Given the description of an element on the screen output the (x, y) to click on. 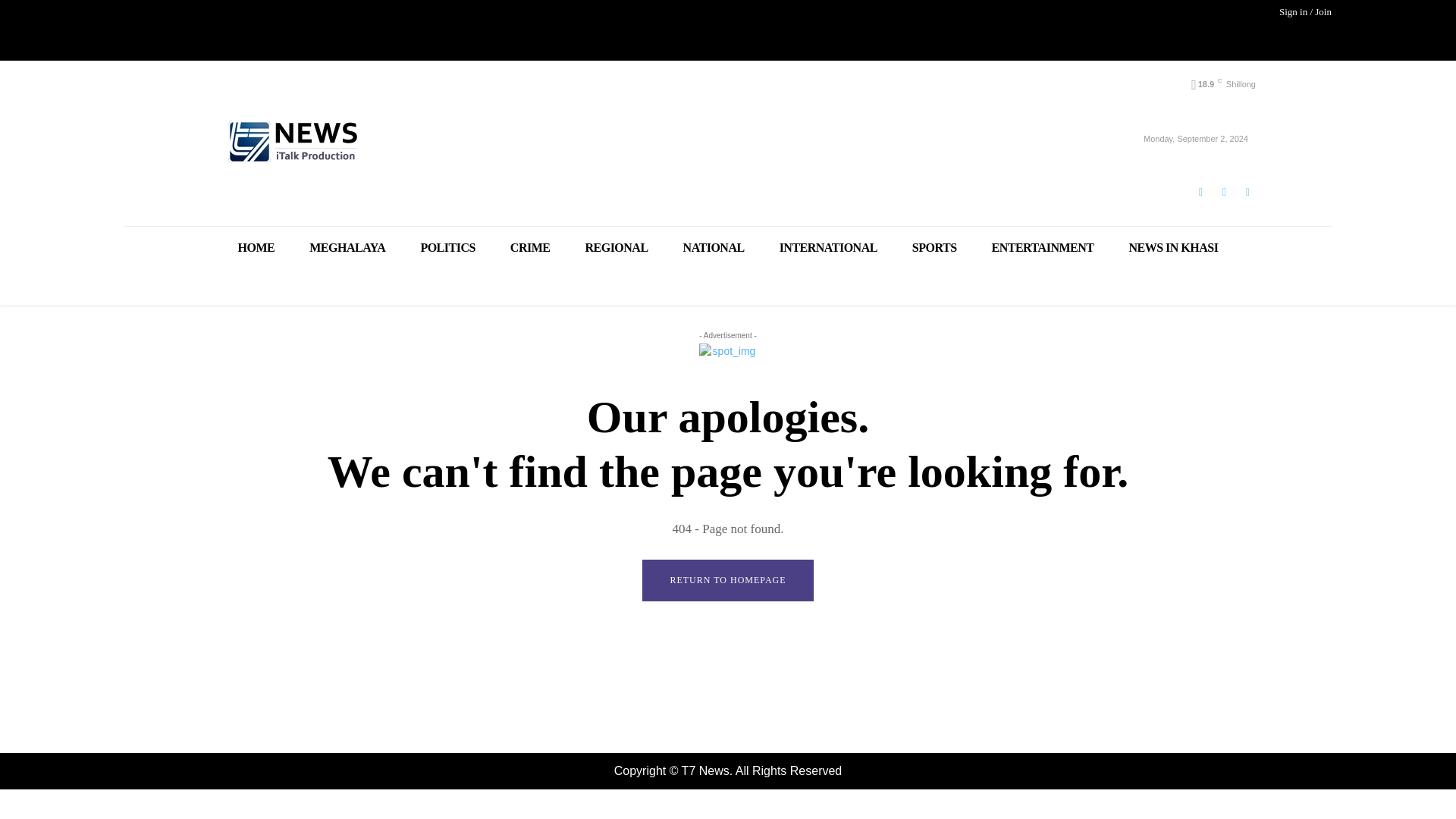
ENTERTAINMENT (1043, 247)
SPORTS (934, 247)
HOME (256, 247)
MEGHALAYA (347, 247)
NATIONAL (713, 247)
Twitter (1247, 191)
POLITICS (447, 247)
INTERNATIONAL (828, 247)
Facebook (1200, 191)
CRIME (530, 247)
